Given the description of an element on the screen output the (x, y) to click on. 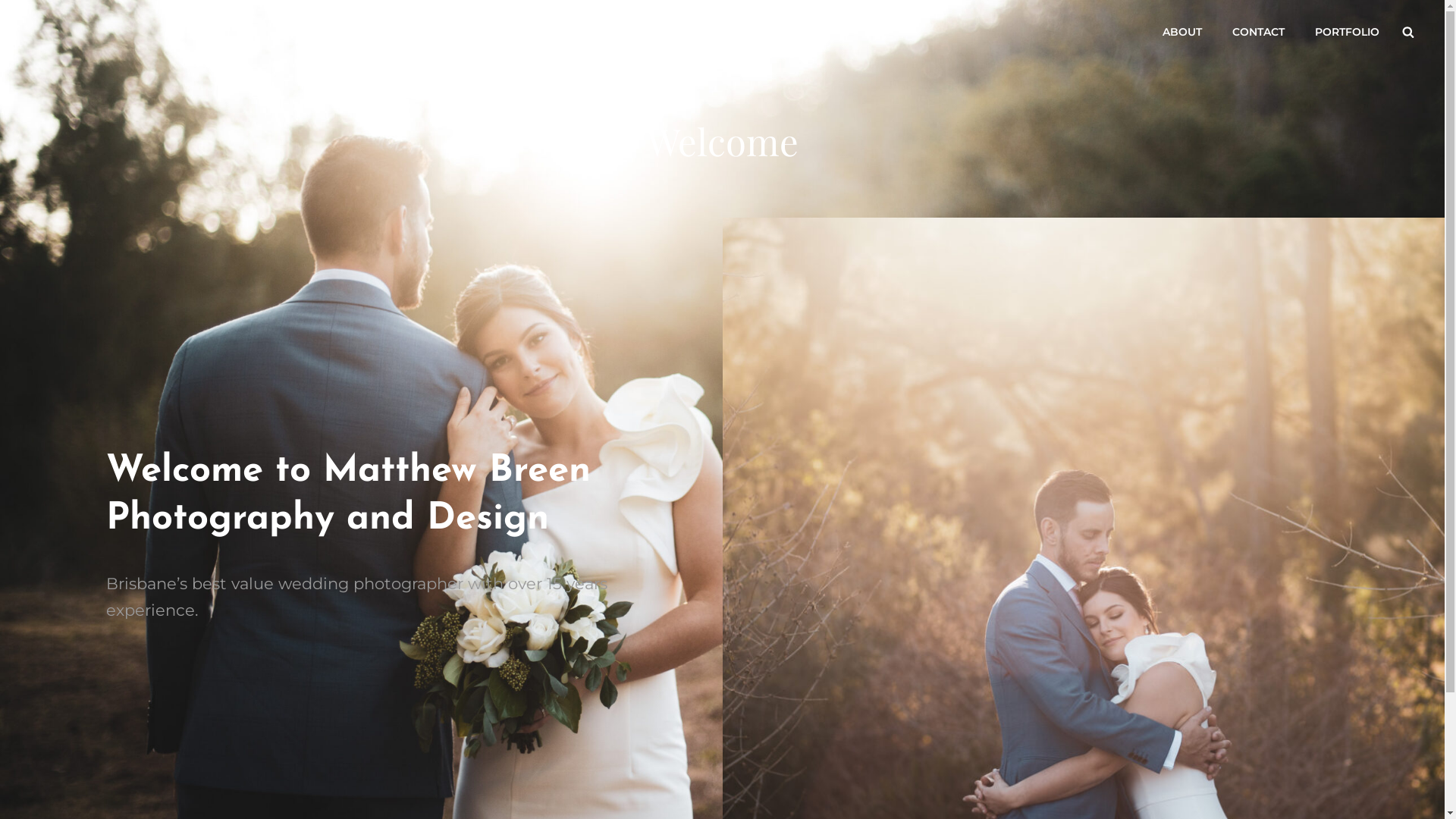
CONTACT Element type: text (1258, 31)
ABOUT Element type: text (1182, 31)
MATTHEW BREEN PHOTOGRAPHY AND DESIGN Element type: text (260, 42)
PORTFOLIO Element type: text (1346, 31)
Welcome to Matthew Breen Photography and Design Element type: text (348, 494)
Search Element type: text (1407, 31)
